Given the description of an element on the screen output the (x, y) to click on. 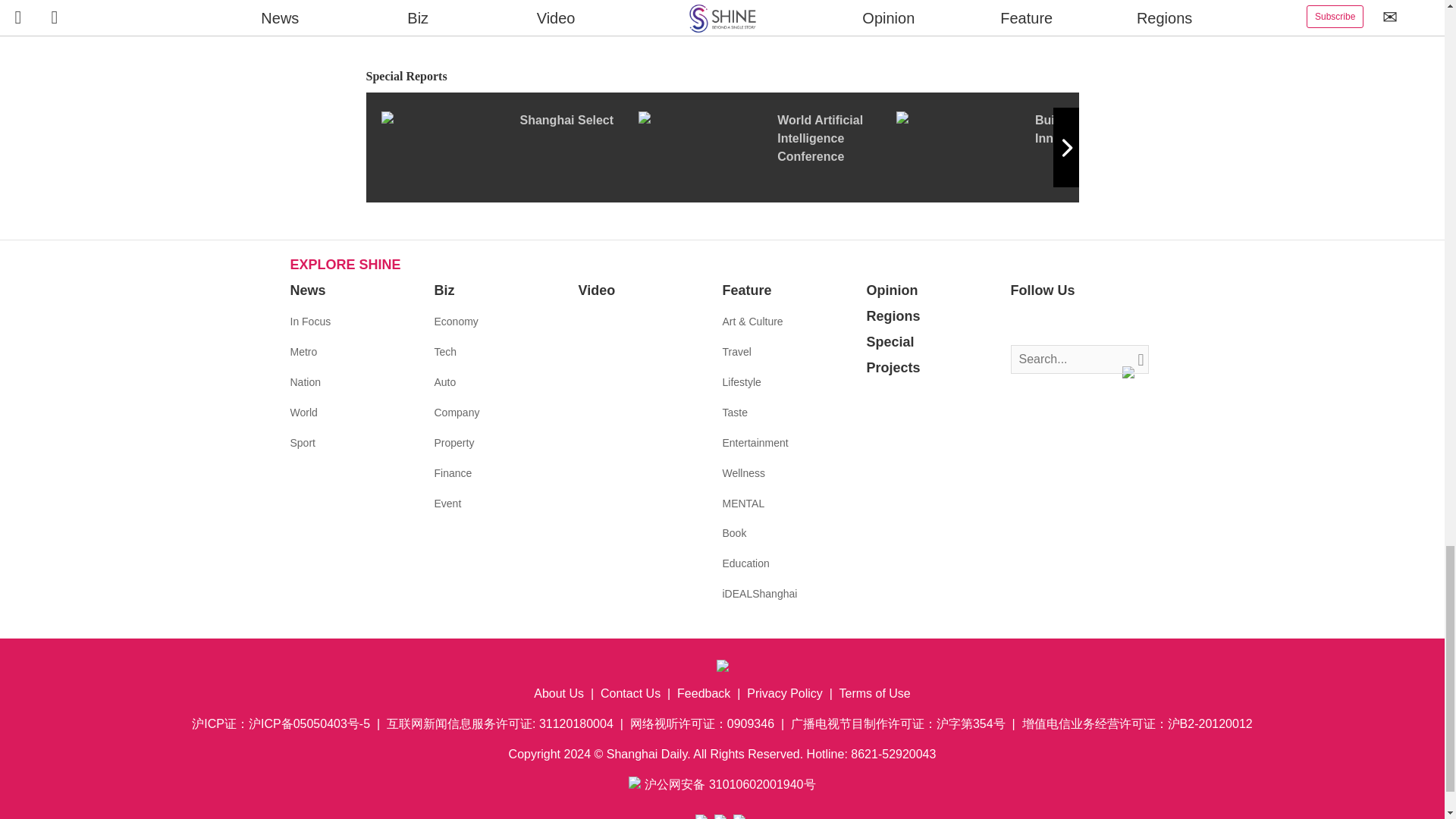
Follow us on Wechat (1112, 321)
World Artificial Intelligence Conference (767, 146)
Building an Innovation Hub (1024, 146)
Special Reports (721, 76)
Follow us on Facebook (1021, 321)
Follow us on Instagram (1067, 321)
Shanghai Select (508, 146)
Follow us on Twitter (1044, 321)
Follow us on Youtube (1090, 321)
